Given the description of an element on the screen output the (x, y) to click on. 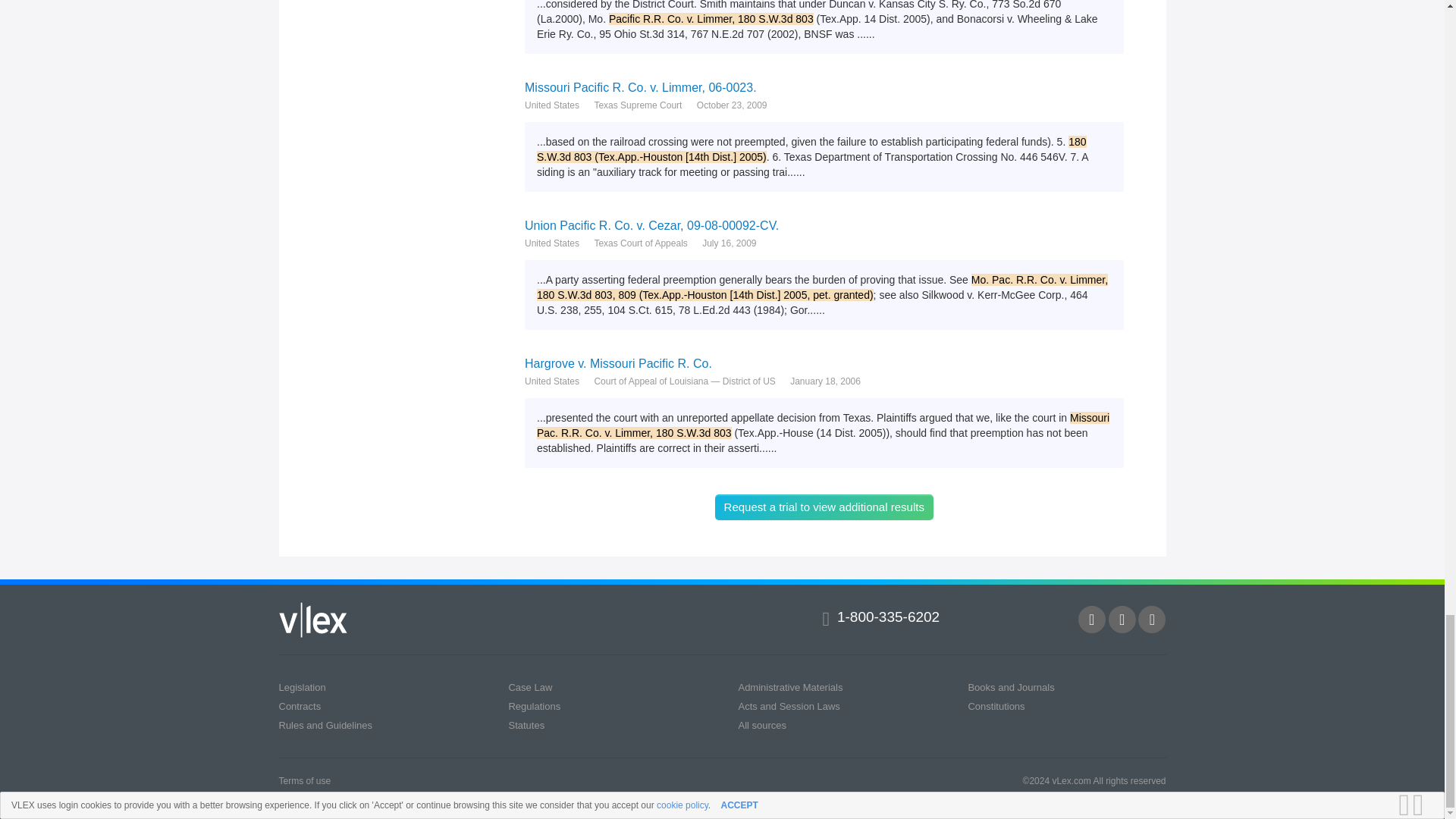
vLex (313, 619)
Union Pacific R. Co. v. Cezar, 09-08-00092-CV. (824, 225)
Rules and Guidelines (325, 724)
Case Law (529, 686)
Missouri Pacific R. Co. v. Limmer, 06-0023. (824, 87)
Texas Supreme Court (637, 104)
Books and Journals (1011, 686)
January 18, 2006 (825, 380)
Statutes (526, 724)
Administrative Materials (790, 686)
October 23, 2009 (732, 104)
Union Pacific R. Co. v. Cezar, 09-08-00092-CV. (824, 225)
Hargrove v. Missouri Pacific R. Co. (824, 363)
All sources (762, 724)
Legislation (302, 686)
